Given the description of an element on the screen output the (x, y) to click on. 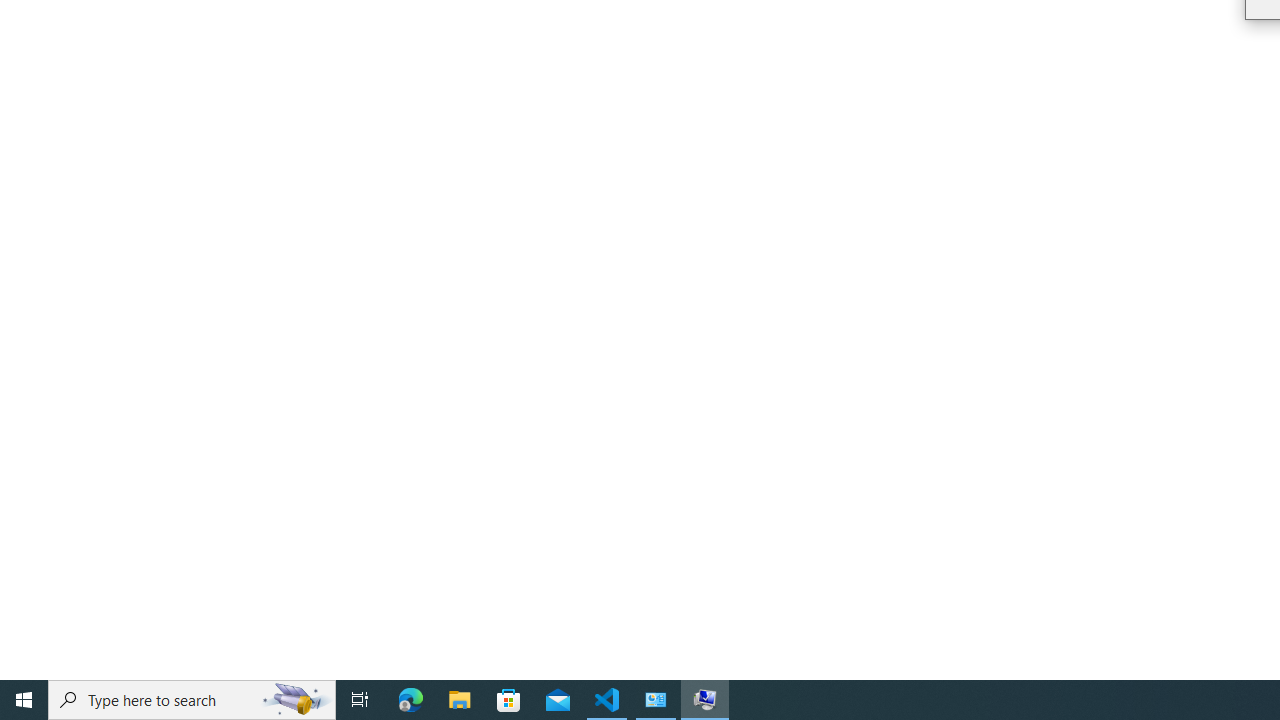
System Remote Settings - 1 running window (704, 699)
Control Panel - 1 running window (656, 699)
